Given the description of an element on the screen output the (x, y) to click on. 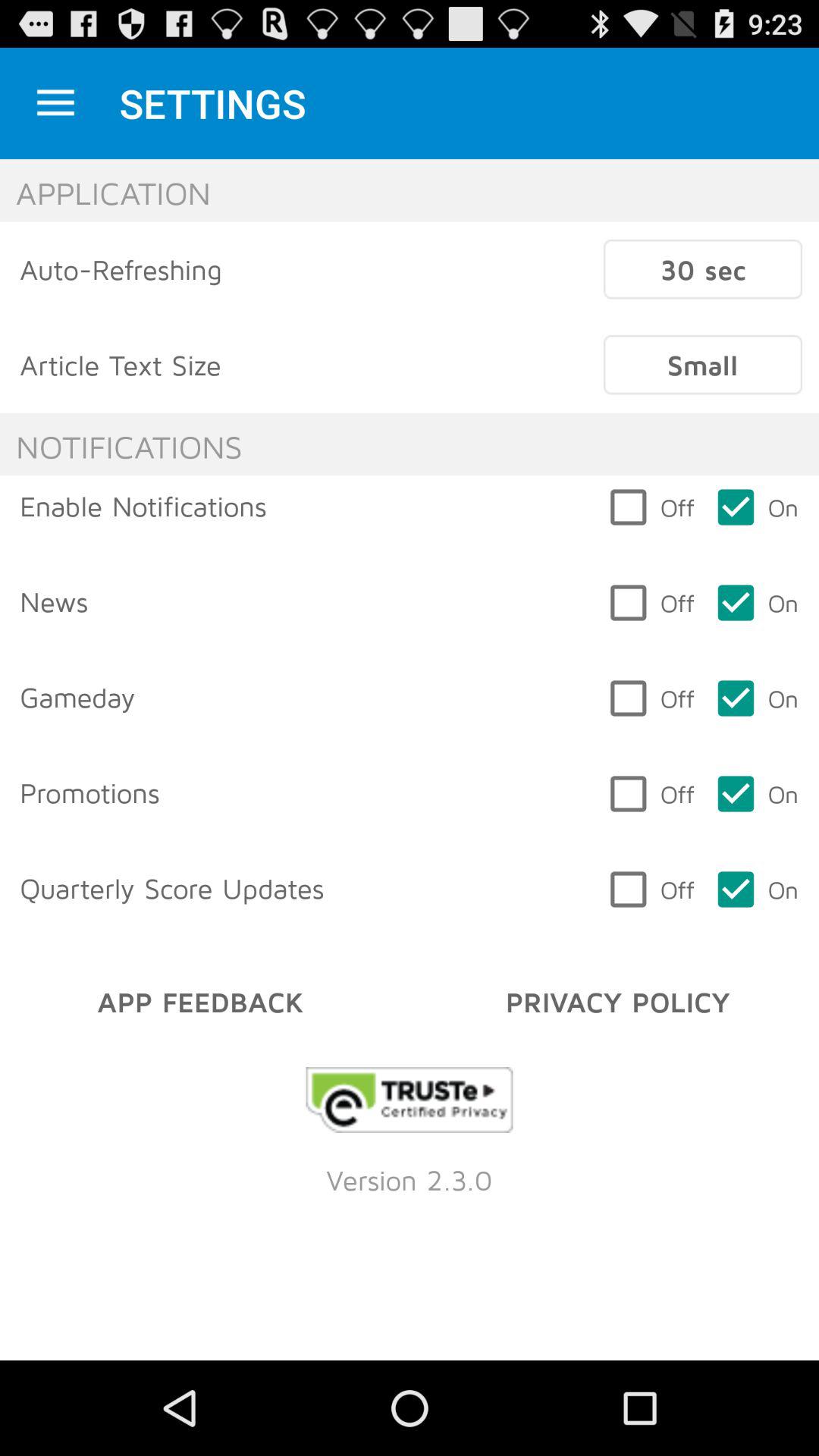
click item above application (55, 103)
